Given the description of an element on the screen output the (x, y) to click on. 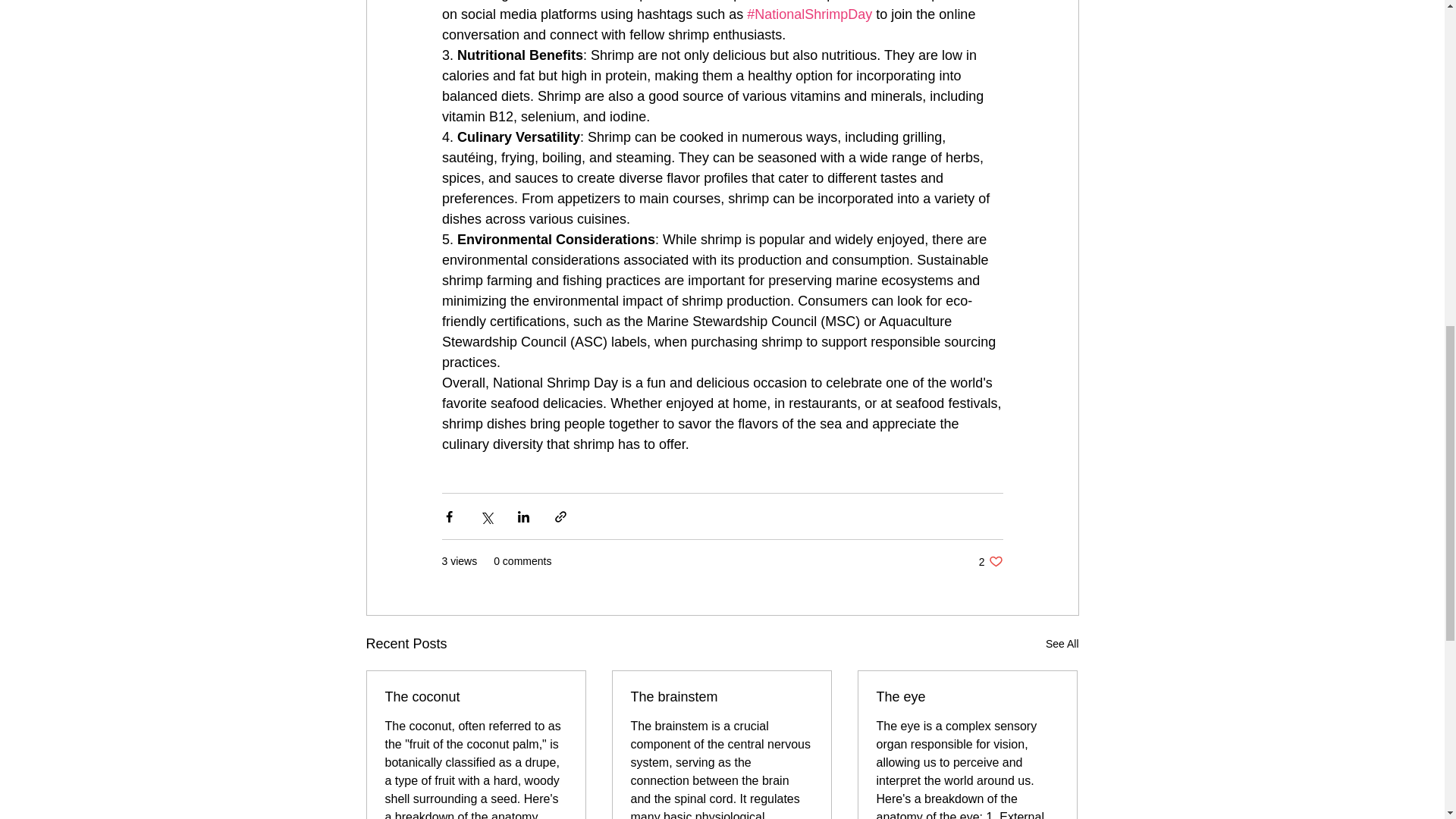
The brainstem (721, 697)
The eye (967, 697)
See All (1061, 644)
The coconut (990, 561)
